Given the description of an element on the screen output the (x, y) to click on. 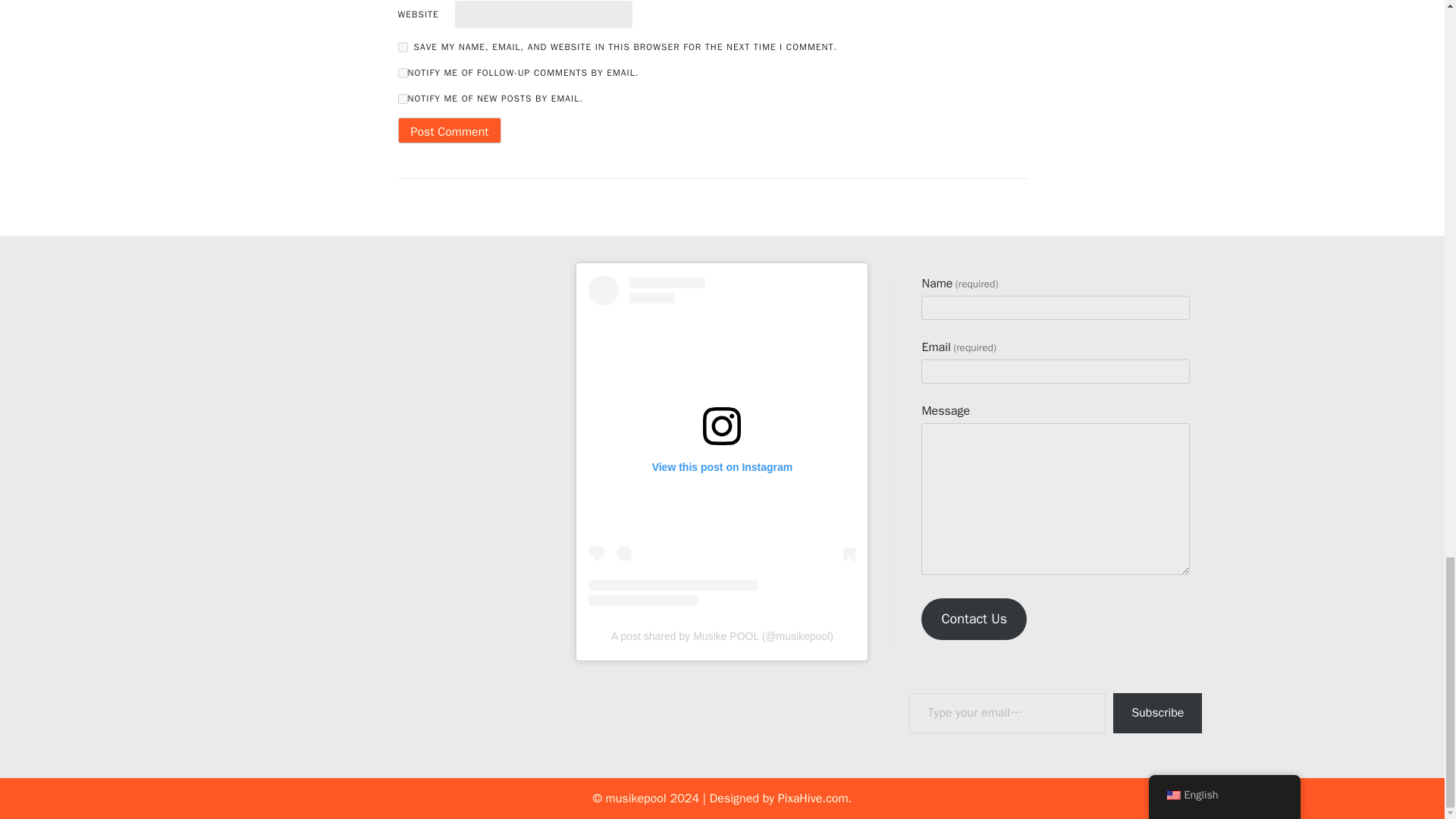
subscribe (402, 72)
Post Comment (448, 130)
Spotify Embed: MusikePOOL (389, 395)
yes (402, 47)
Please fill in this field. (1006, 712)
subscribe (402, 99)
Post Comment (448, 130)
